Given the description of an element on the screen output the (x, y) to click on. 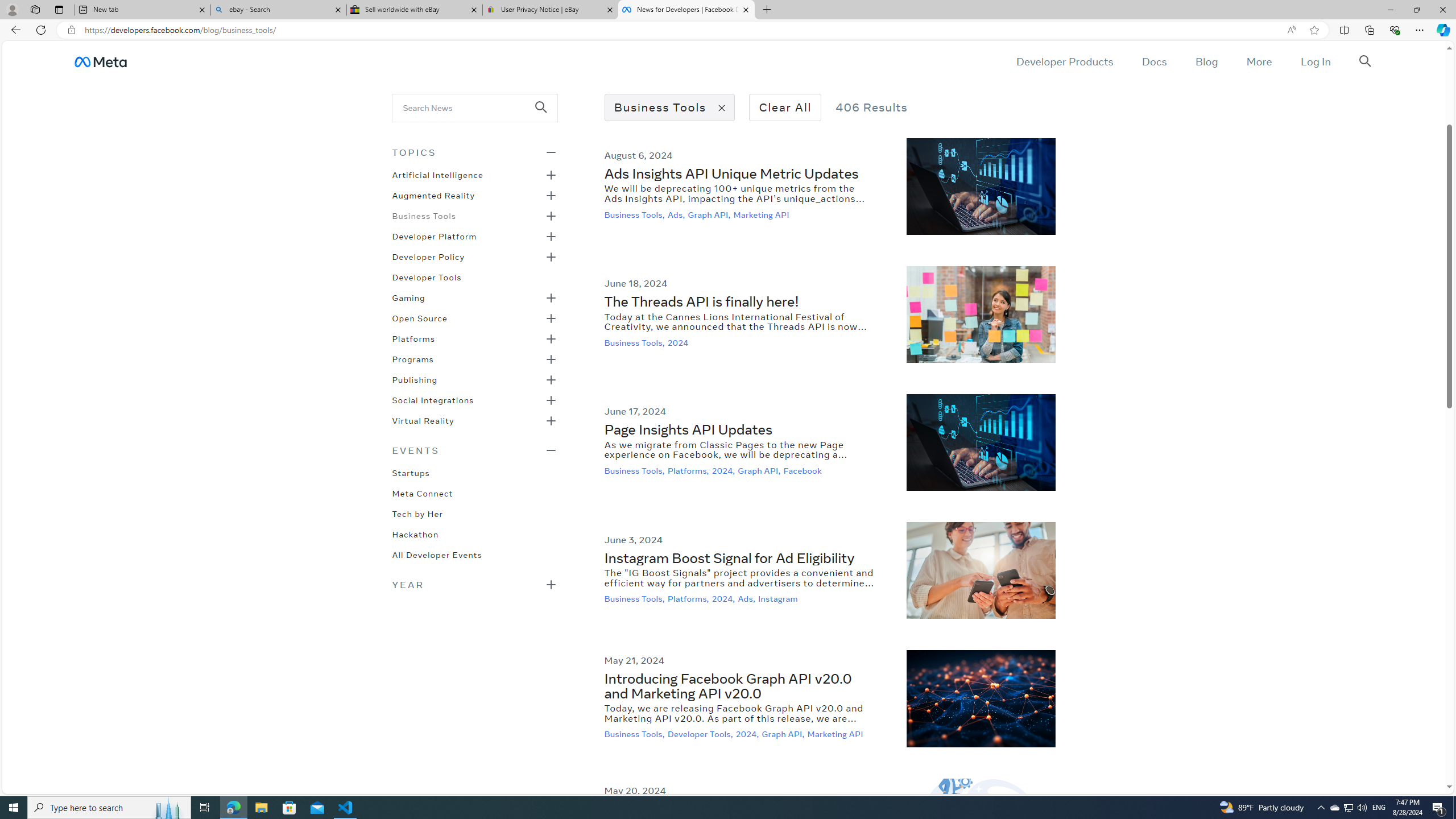
Developer Products (1064, 61)
Hackathon (415, 533)
Developer Products (1064, 61)
Docs (1153, 61)
Programs (412, 358)
Business Tools, (636, 733)
Developer Platform (434, 235)
Class: _9890 _98ez (474, 584)
Social Integrations (432, 399)
